Given the description of an element on the screen output the (x, y) to click on. 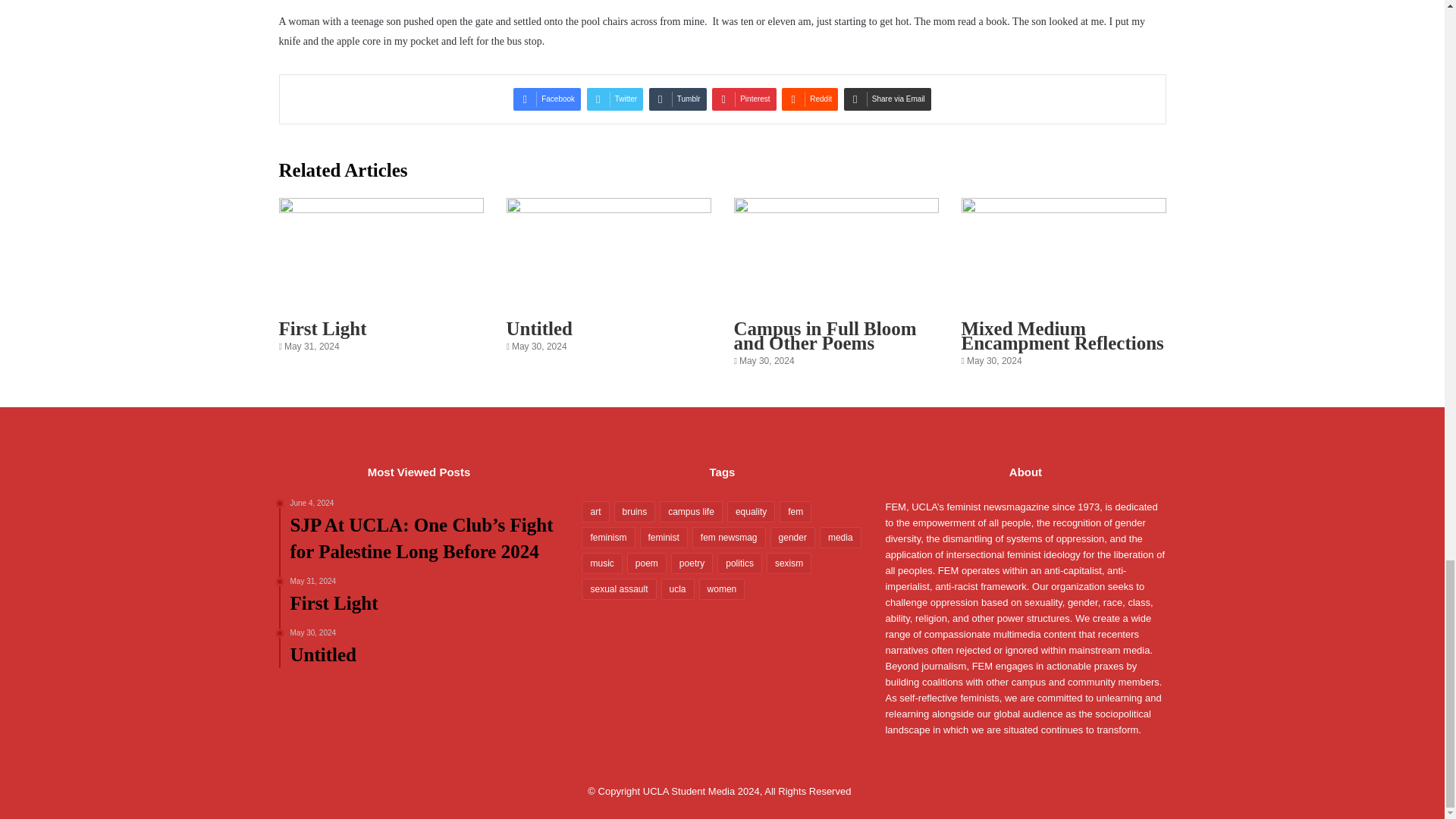
Mixed Medium Encampment Reflections (1061, 335)
Share via Email (887, 98)
Reddit (809, 98)
Facebook (424, 596)
Facebook (546, 98)
Untitled (546, 98)
Campus in Full Bloom and Other Poems (539, 328)
Tumblr (825, 335)
Pinterest (677, 98)
